Given the description of an element on the screen output the (x, y) to click on. 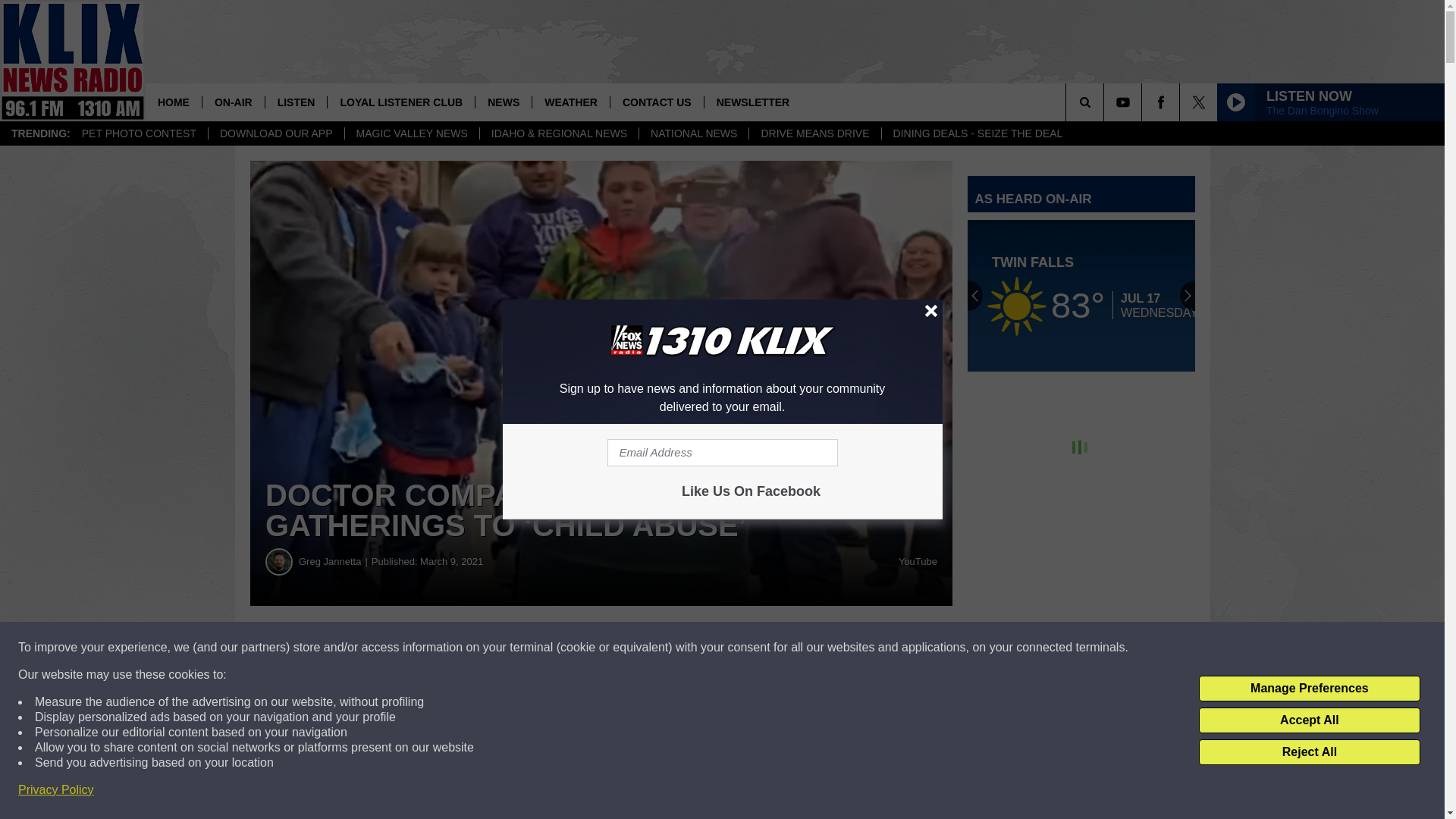
Email Address (722, 452)
ON-AIR (233, 102)
LISTEN (295, 102)
DOWNLOAD OUR APP (275, 133)
Share on Twitter (741, 647)
Reject All (1309, 751)
NATIONAL NEWS (693, 133)
DRIVE MEANS DRIVE (814, 133)
Twin Falls Weather (1081, 295)
HOME (173, 102)
MAGIC VALLEY NEWS (411, 133)
Manage Preferences (1309, 688)
SEARCH (1106, 102)
SEARCH (1106, 102)
PET PHOTO CONTEST (138, 133)
